Given the description of an element on the screen output the (x, y) to click on. 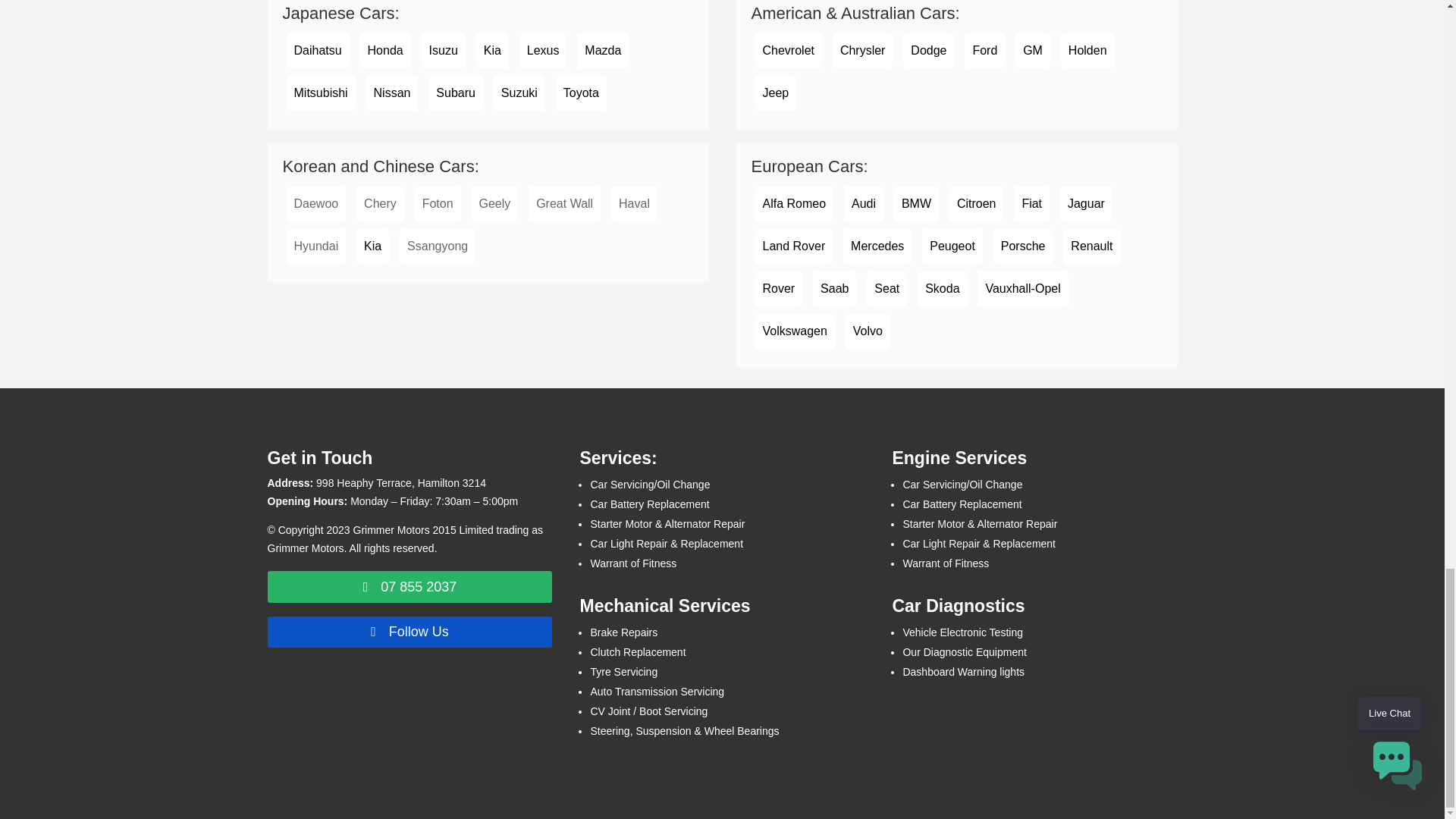
MTA Logo Full Badge - blue (367, 729)
